Given the description of an element on the screen output the (x, y) to click on. 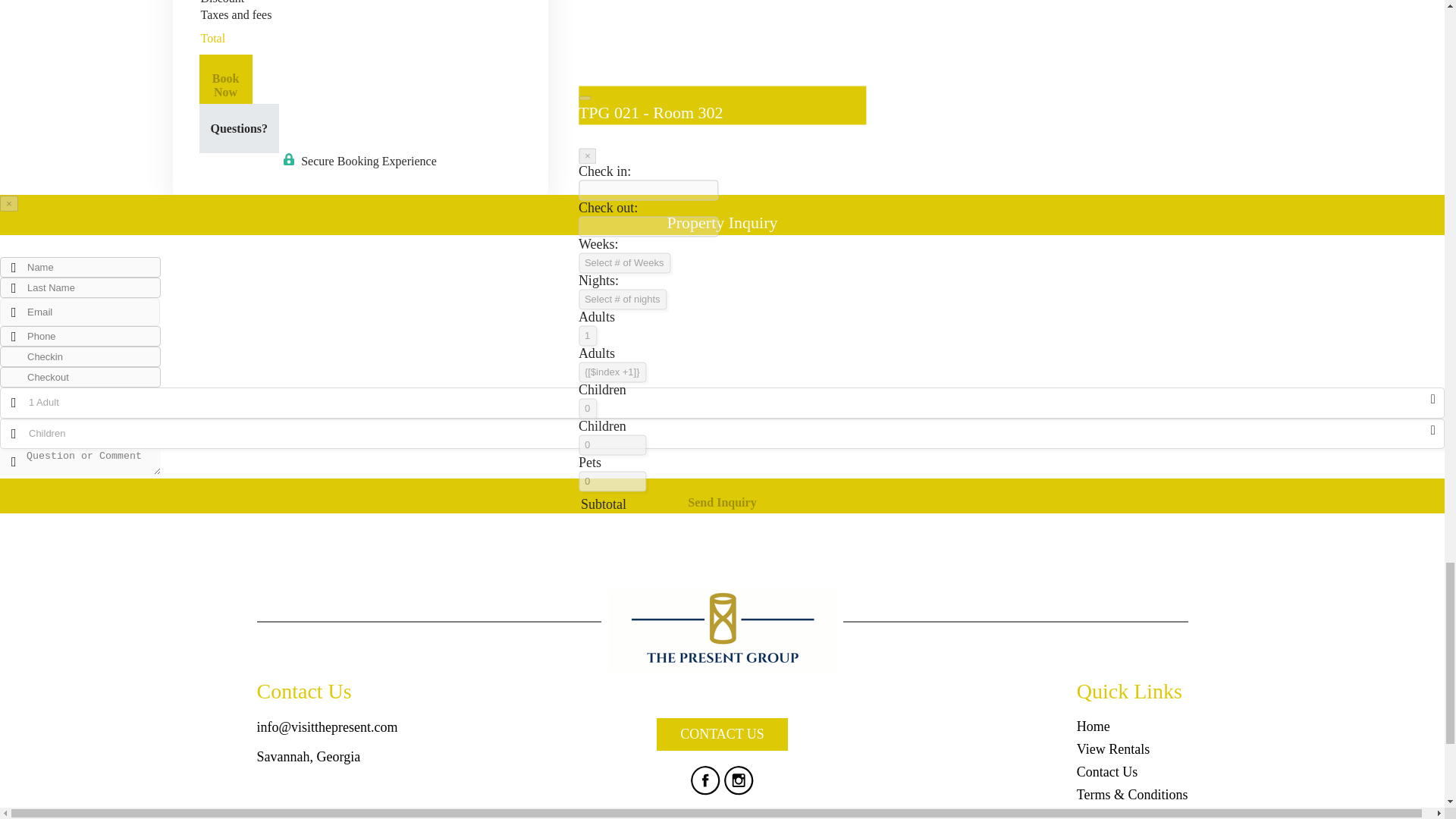
Book Now (224, 79)
Send Inquiry (722, 495)
Questions? (238, 128)
CONTACT US (721, 734)
